Given the description of an element on the screen output the (x, y) to click on. 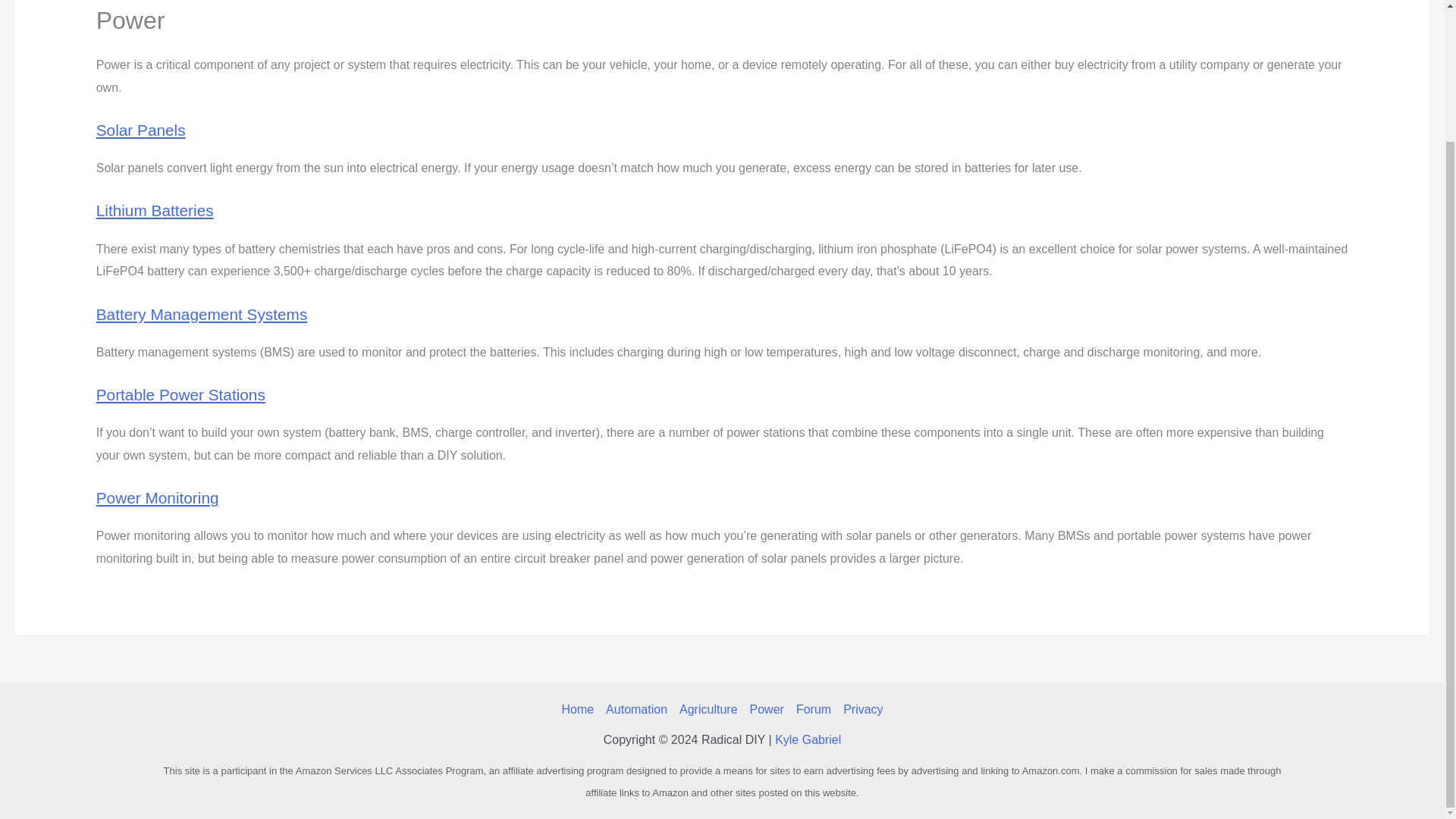
Solar Panels (141, 129)
Lithium Batteries (155, 210)
